Given the description of an element on the screen output the (x, y) to click on. 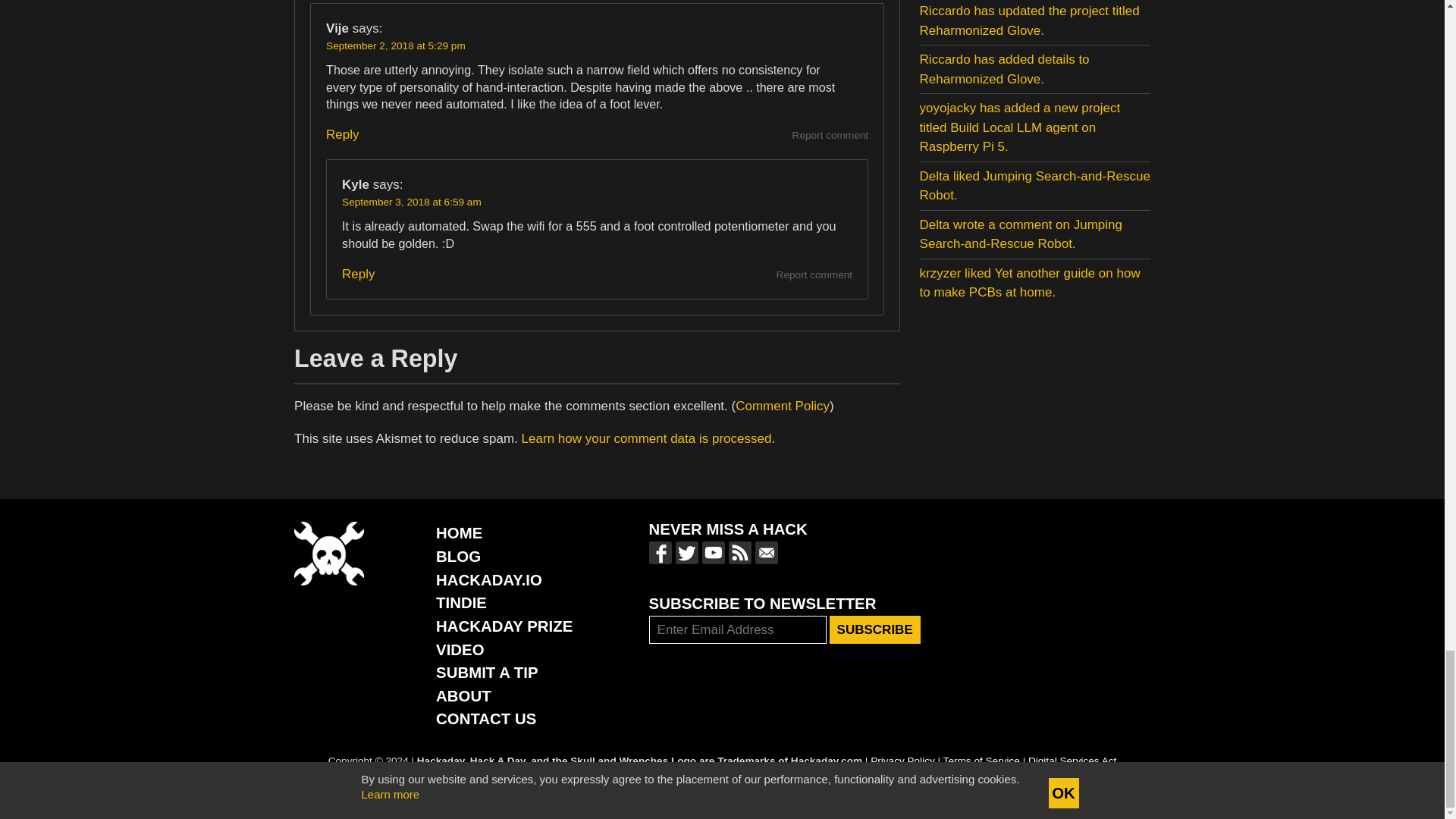
Subscribe (874, 629)
